Given the description of an element on the screen output the (x, y) to click on. 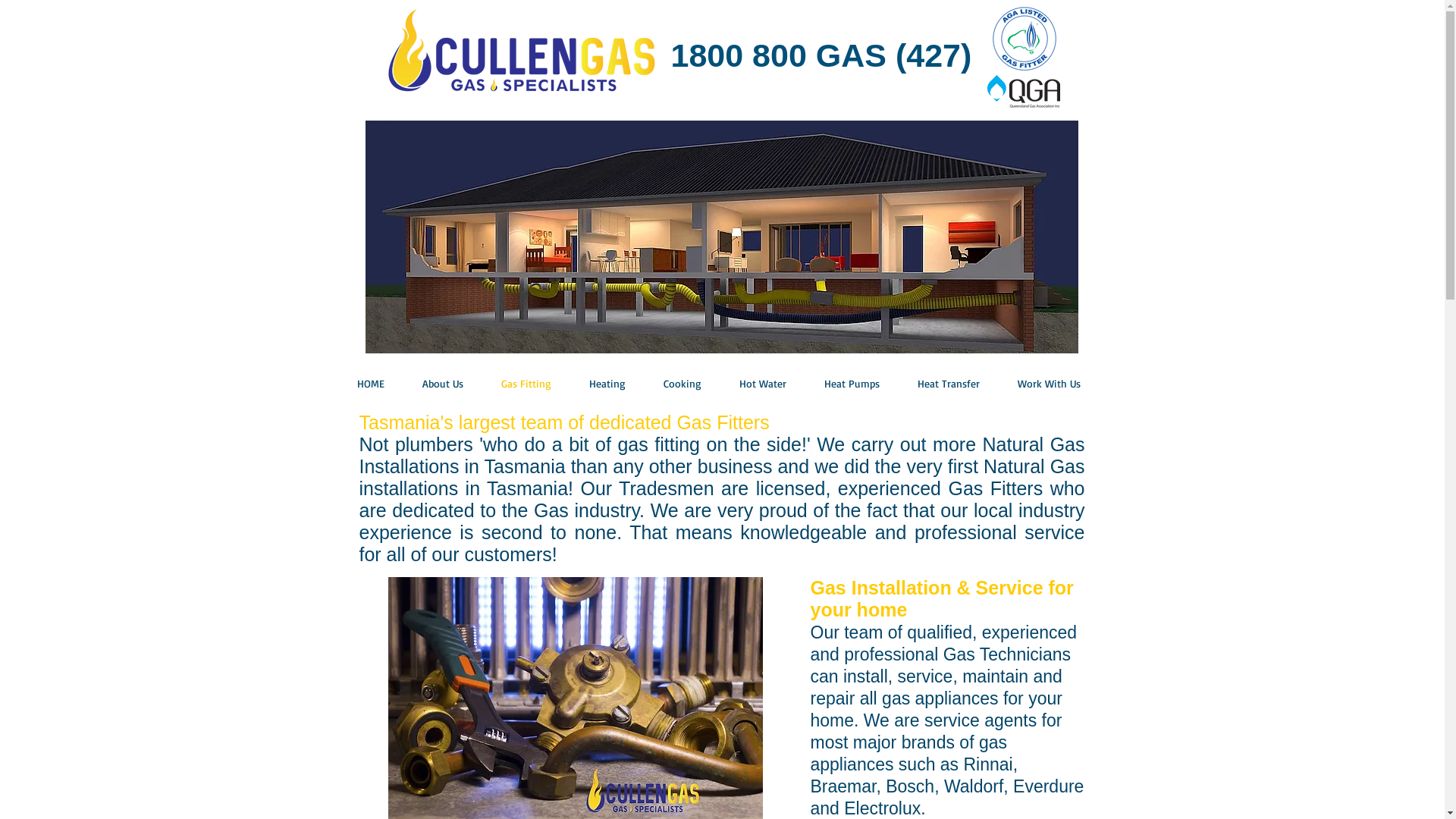
Heat Transfer Element type: text (925, 383)
Logo.png Element type: hover (520, 55)
Gas Fitting Element type: text (502, 383)
Cooking Element type: text (658, 383)
About Us Element type: text (419, 383)
Heating Element type: text (583, 383)
HOME Element type: text (347, 383)
Heat Pumps Element type: text (828, 383)
Hot Water Element type: text (739, 383)
Work With Us Element type: text (1026, 383)
